Given the description of an element on the screen output the (x, y) to click on. 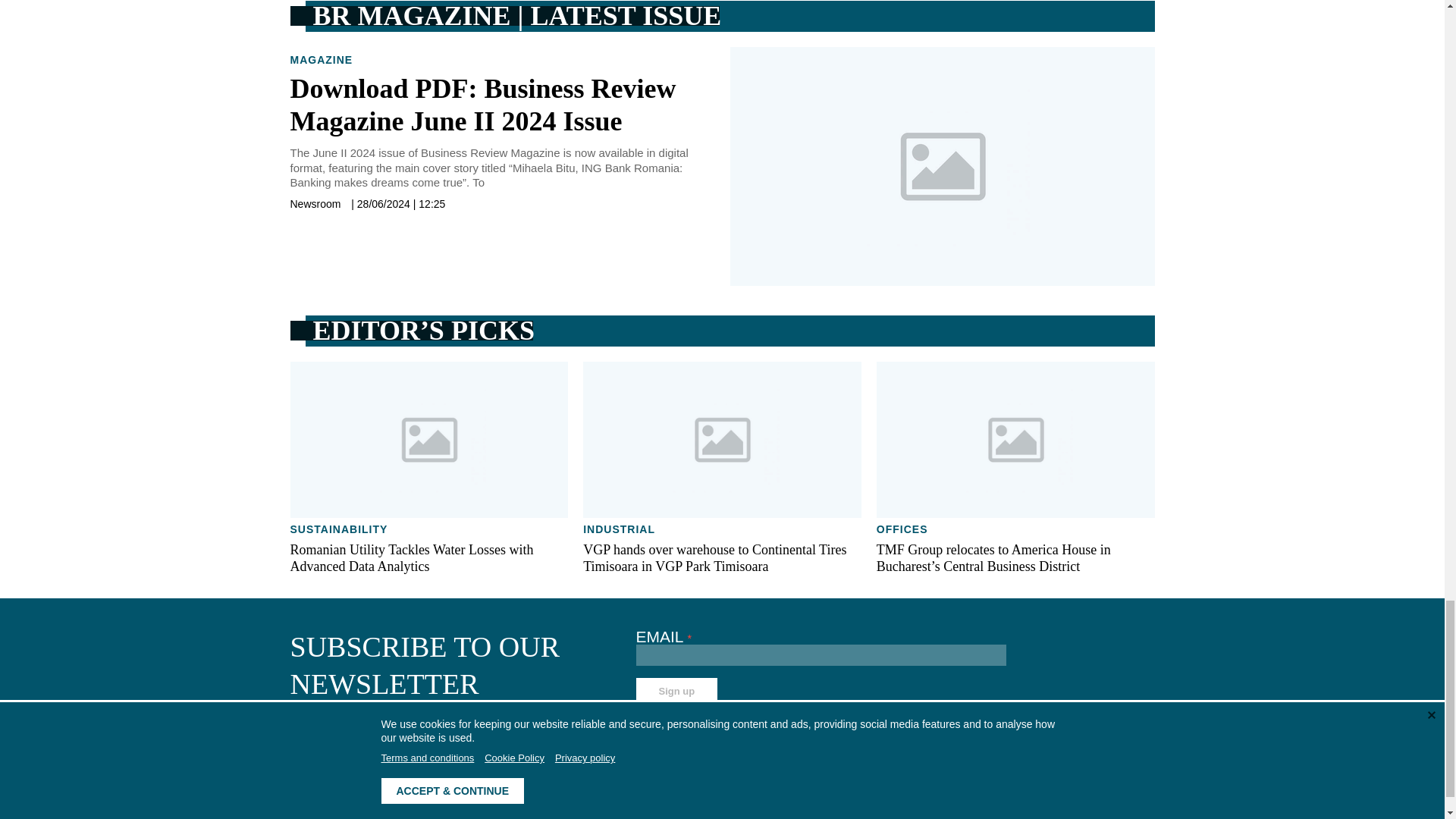
required (690, 638)
Sign up (675, 691)
